Given the description of an element on the screen output the (x, y) to click on. 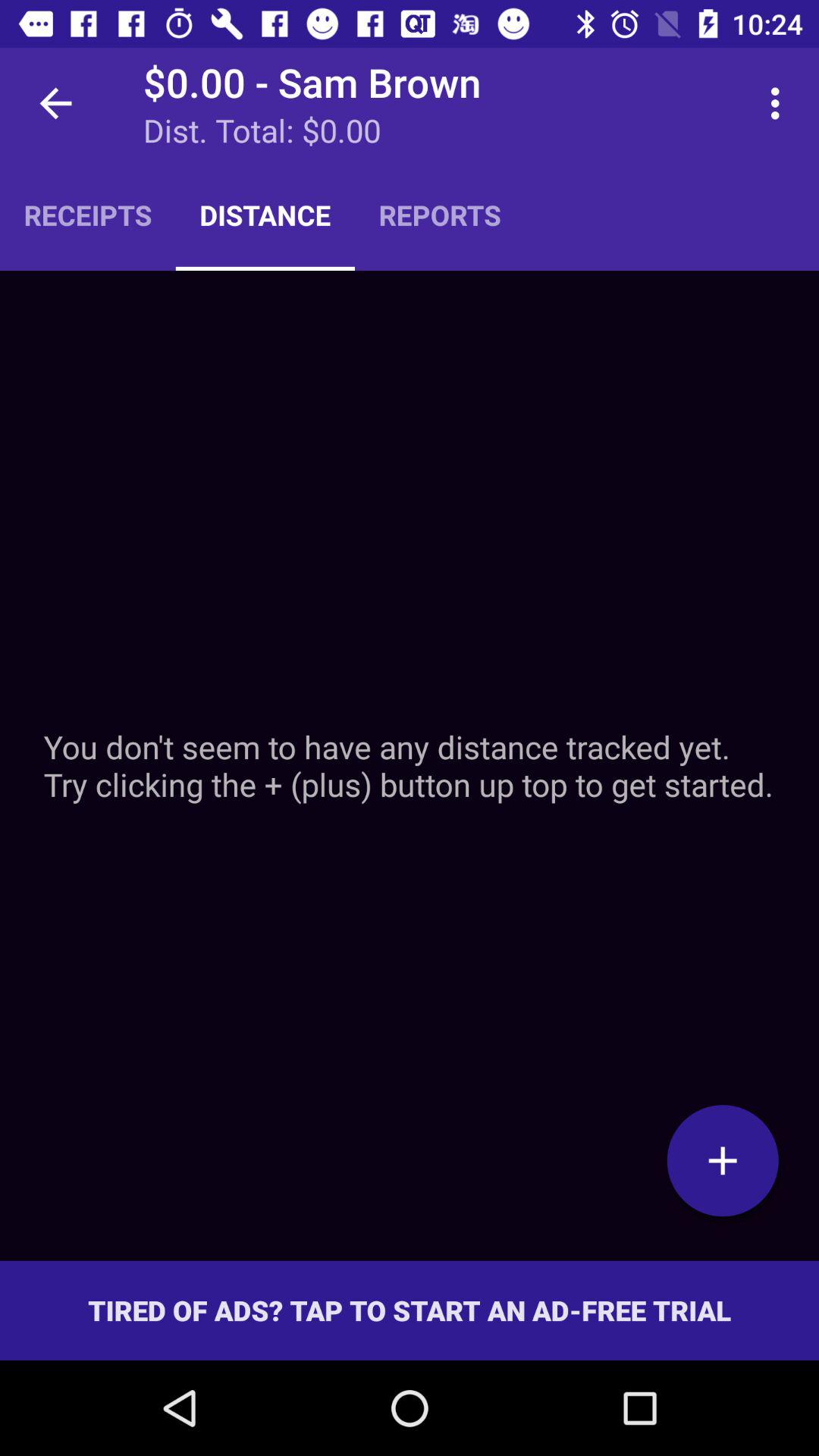
press item above you don t (87, 214)
